Given the description of an element on the screen output the (x, y) to click on. 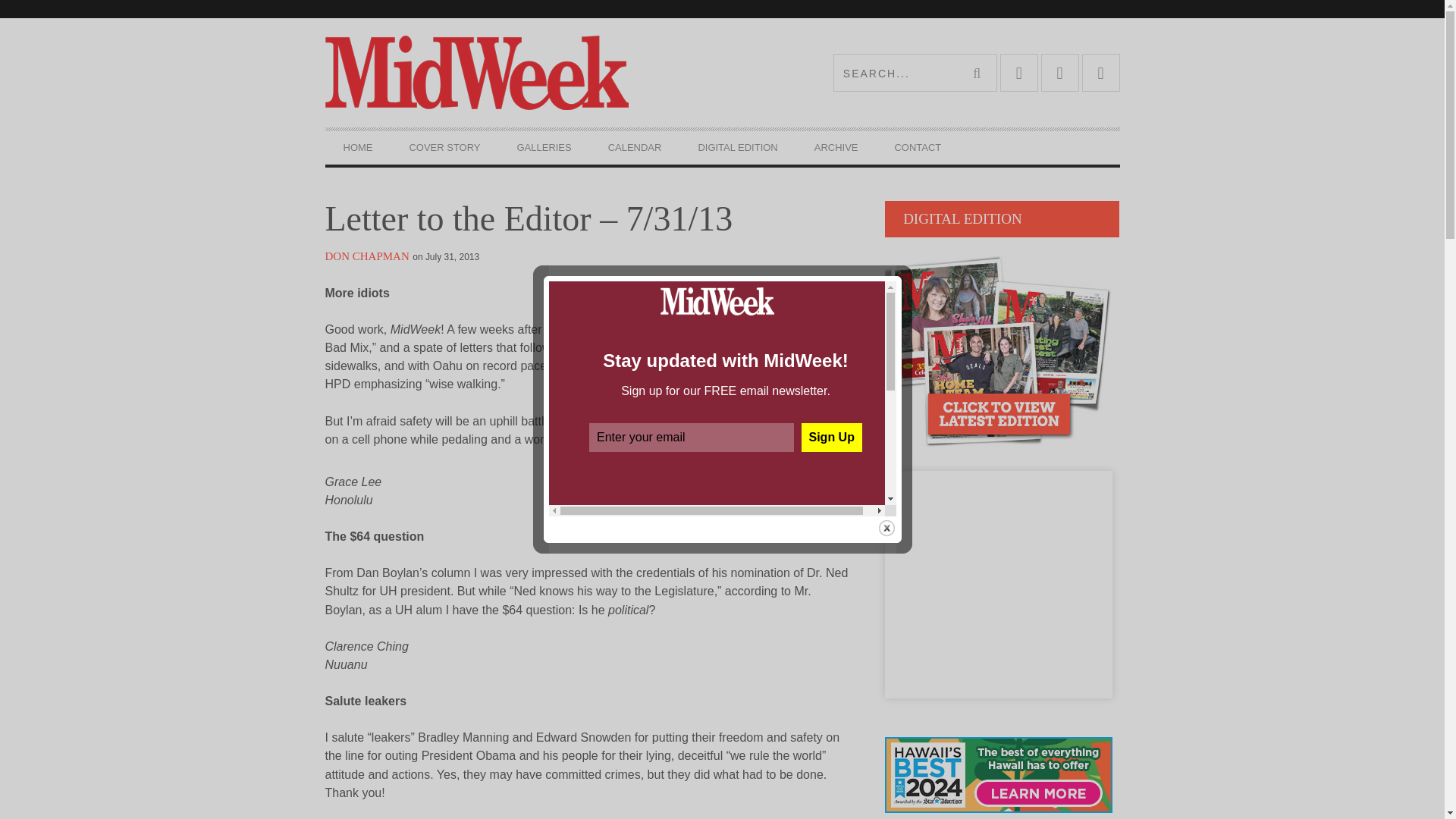
HOME (357, 147)
DON CHAPMAN (366, 256)
GALLERIES (544, 147)
ARCHIVE (836, 147)
DIGITAL EDITION (736, 147)
CALENDAR (634, 147)
Posts by Don Chapman (366, 256)
CONTACT (917, 147)
MidWeek (523, 72)
COVER STORY (443, 147)
